Given the description of an element on the screen output the (x, y) to click on. 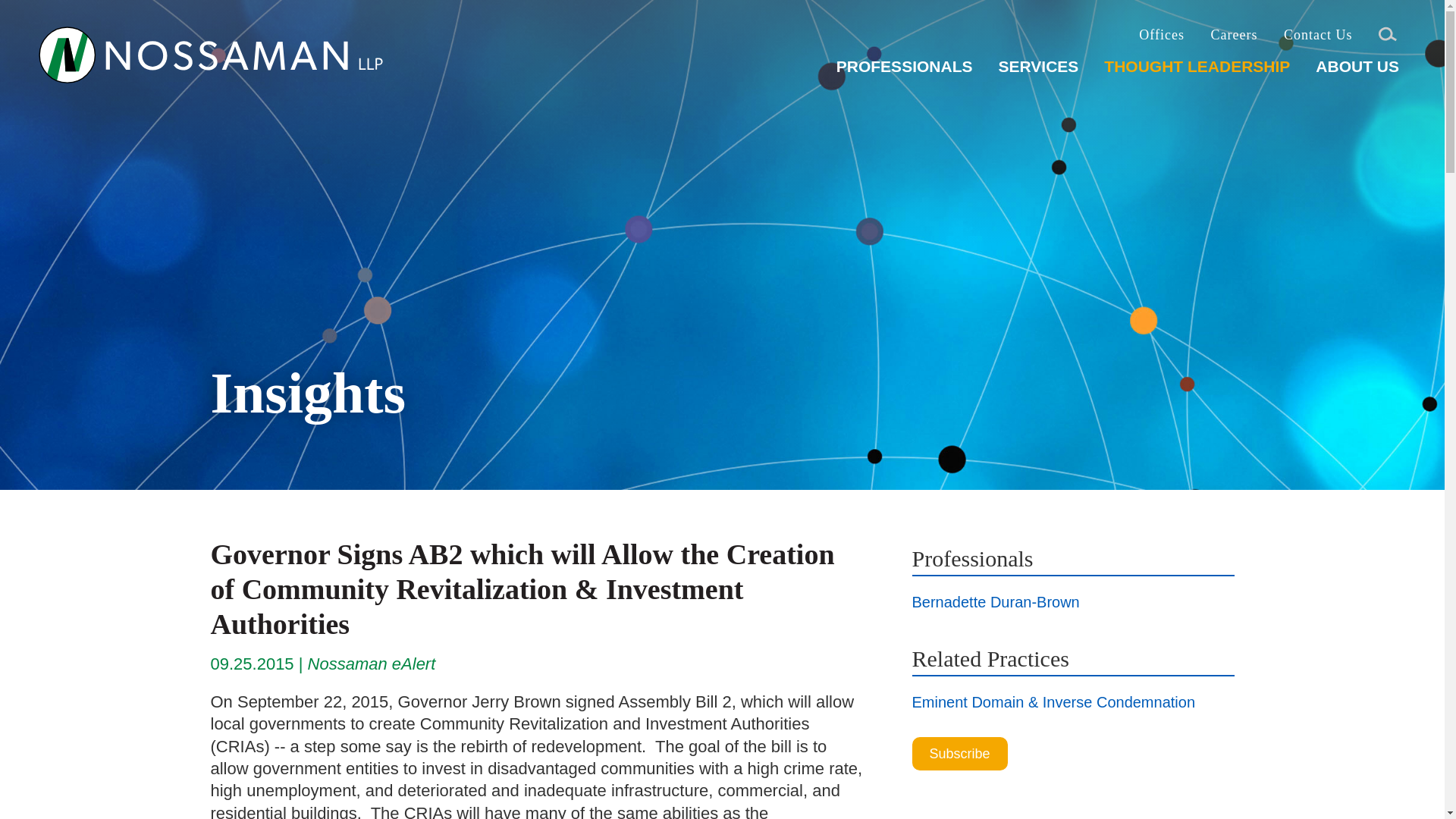
PROFESSIONALS (904, 72)
SERVICES (1037, 72)
Subscribe (959, 753)
Bernadette Duran-Brown (994, 601)
